Given the description of an element on the screen output the (x, y) to click on. 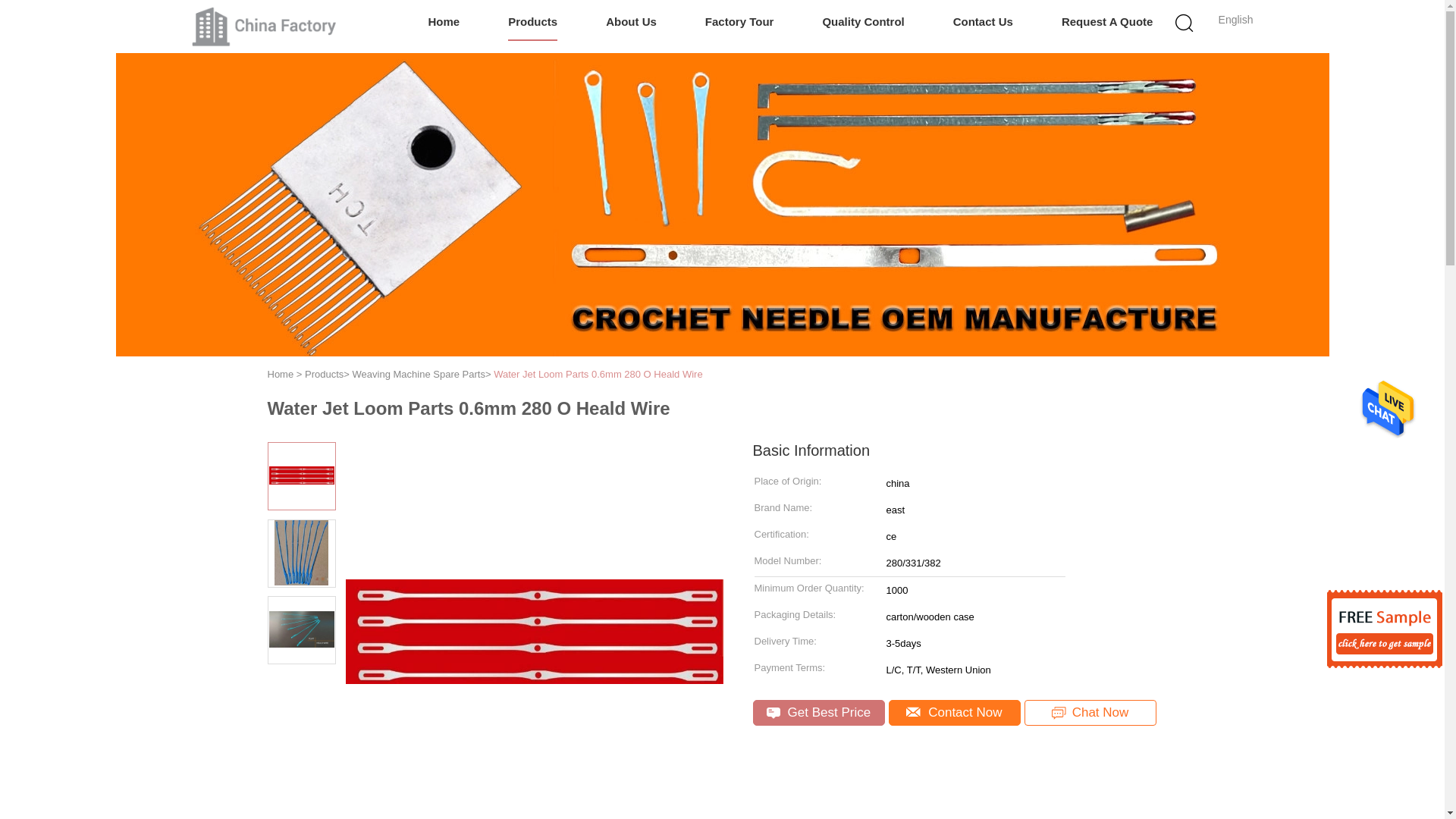
Products (532, 22)
Quote (1107, 22)
Changzhou Michelle Bell Textile Machinery Company (264, 25)
Weaving Machine Spare Parts (418, 374)
Home (280, 374)
Factory Tour (739, 22)
Contact Us (983, 22)
Search (1044, 100)
About Us (630, 22)
Products (323, 374)
Quality Control (863, 22)
Request A Quote (1107, 22)
Water Jet Loom Parts 0.6mm 280 O Heald Wire (598, 374)
